Given the description of an element on the screen output the (x, y) to click on. 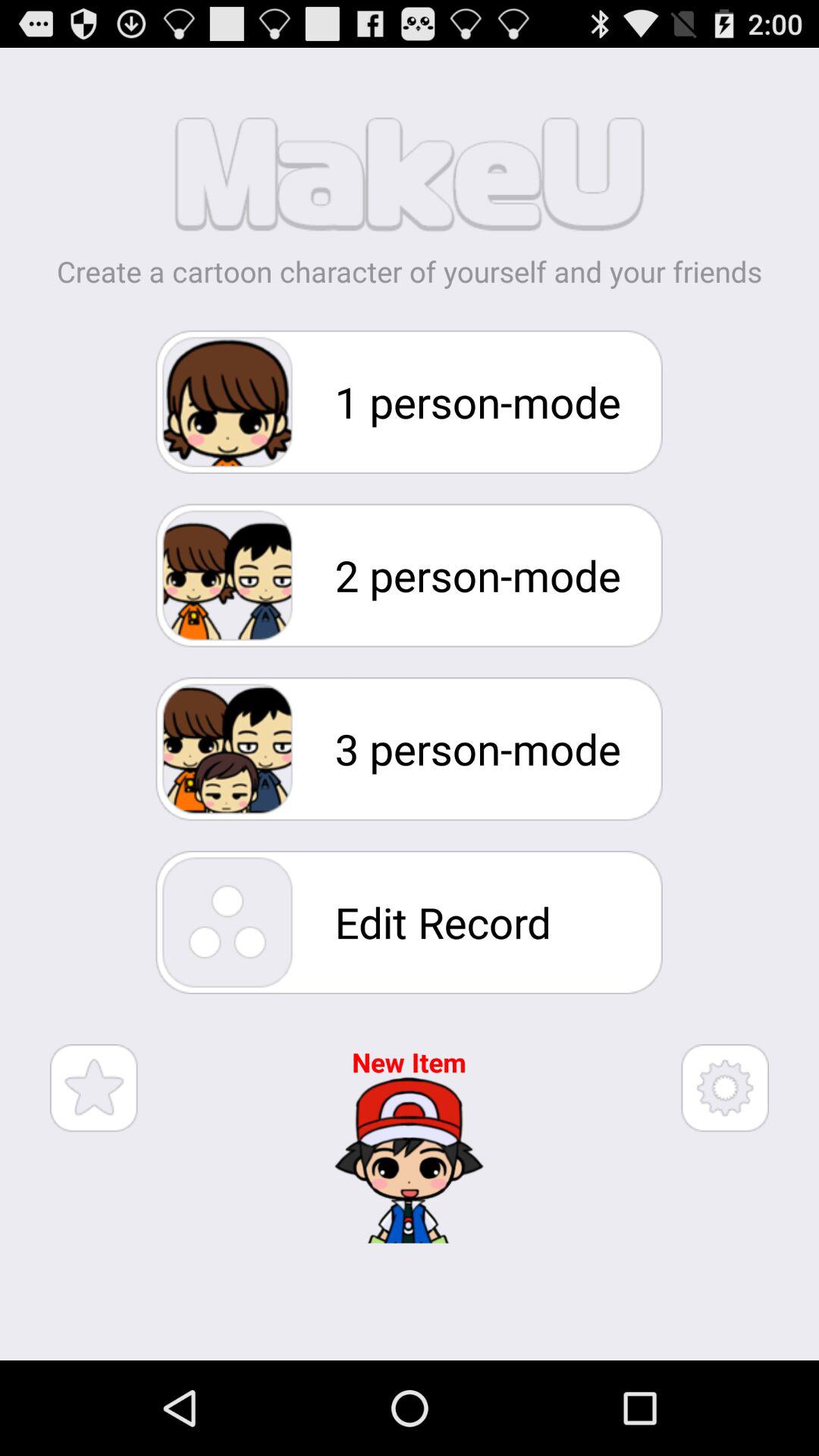
navigate to favorite characters (93, 1087)
